Given the description of an element on the screen output the (x, y) to click on. 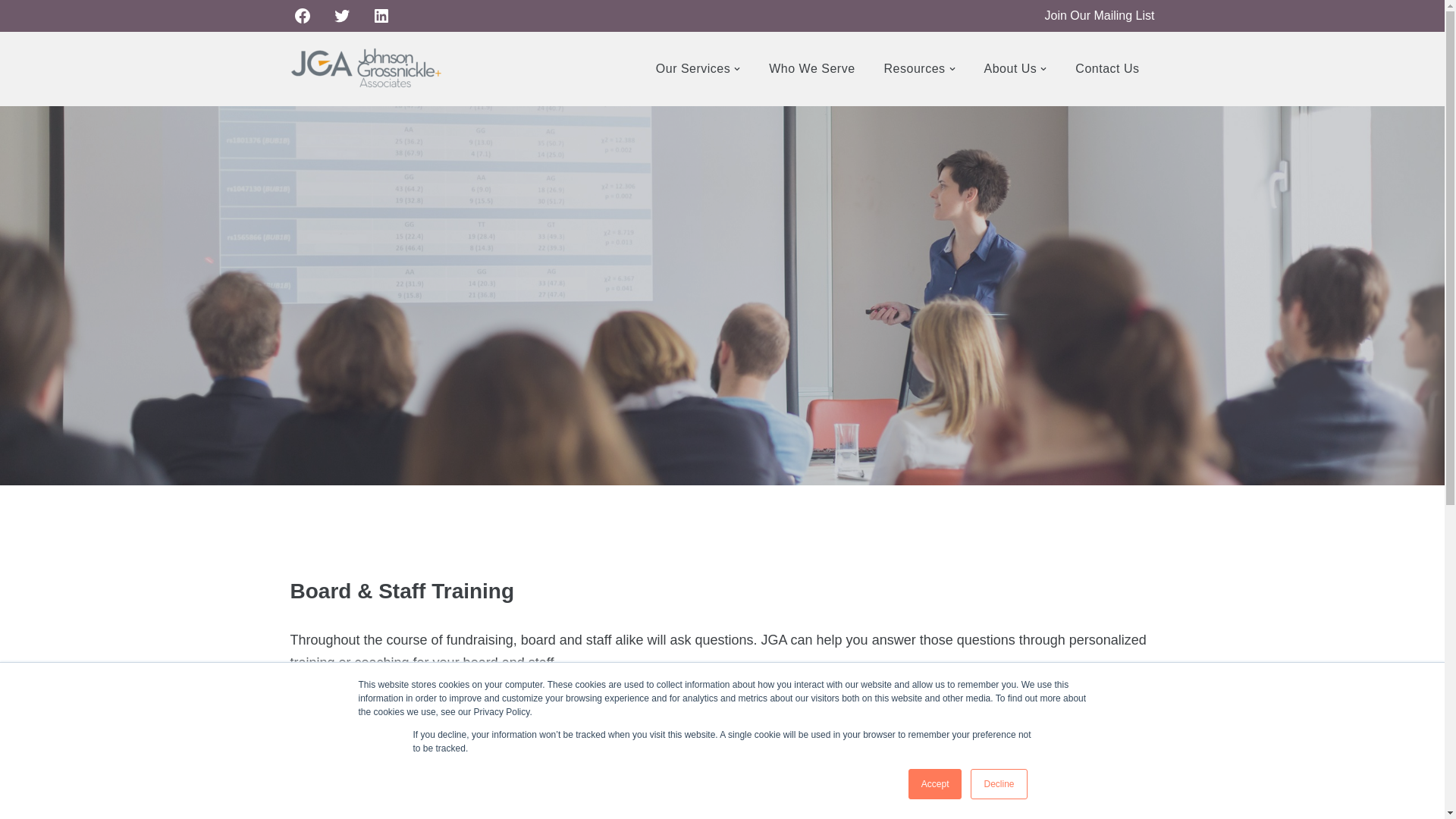
About Us (1010, 68)
Skip to content (11, 31)
Resources (913, 68)
Join Our Mailing List (1099, 15)
Accept (935, 784)
Decline (998, 784)
Who We Serve (811, 68)
Our Services (693, 68)
Contact Us (1106, 68)
